Given the description of an element on the screen output the (x, y) to click on. 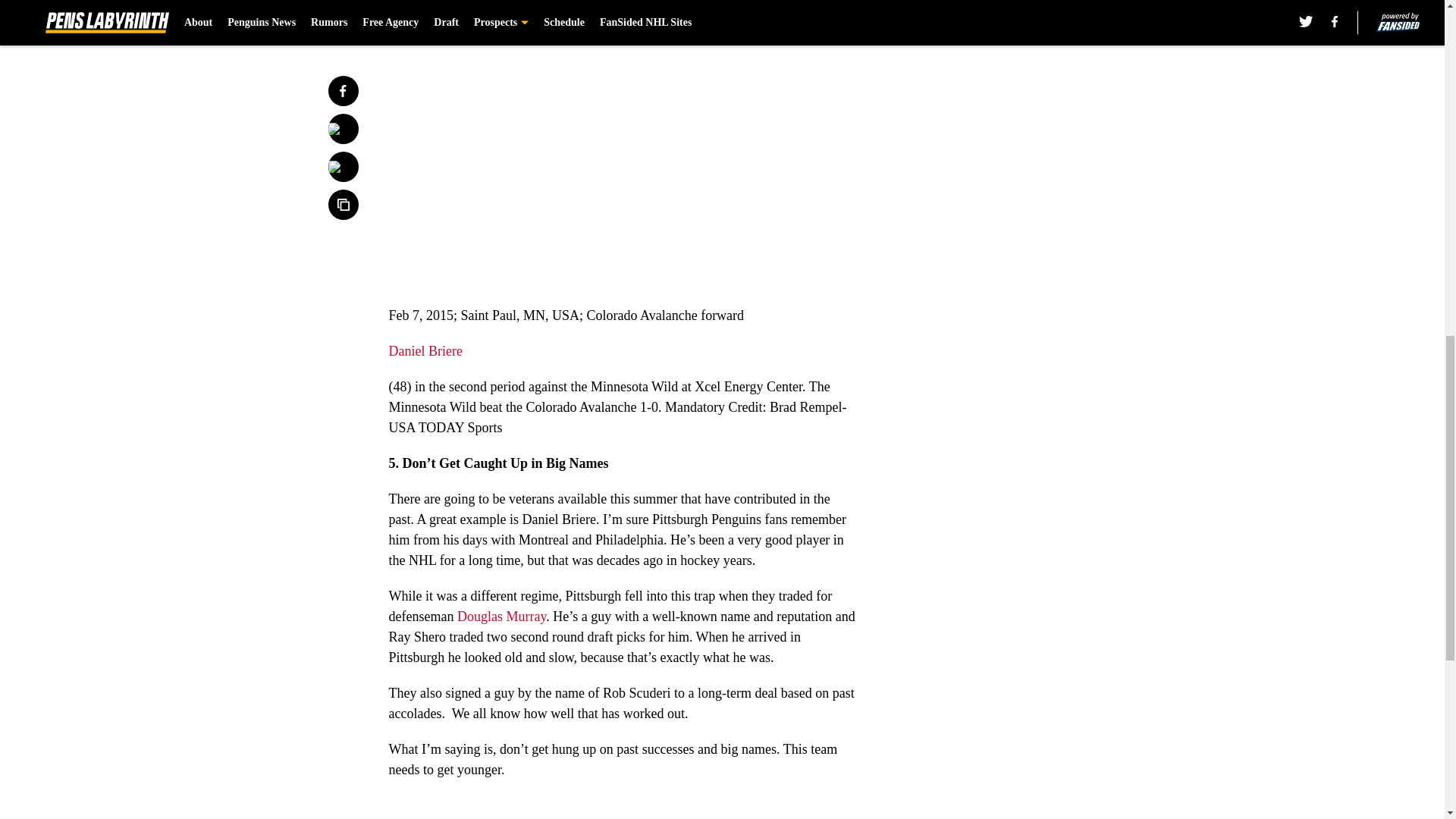
Daniel Briere (424, 350)
Douglas Murray (501, 616)
Next (813, 5)
Prev (433, 5)
